Given the description of an element on the screen output the (x, y) to click on. 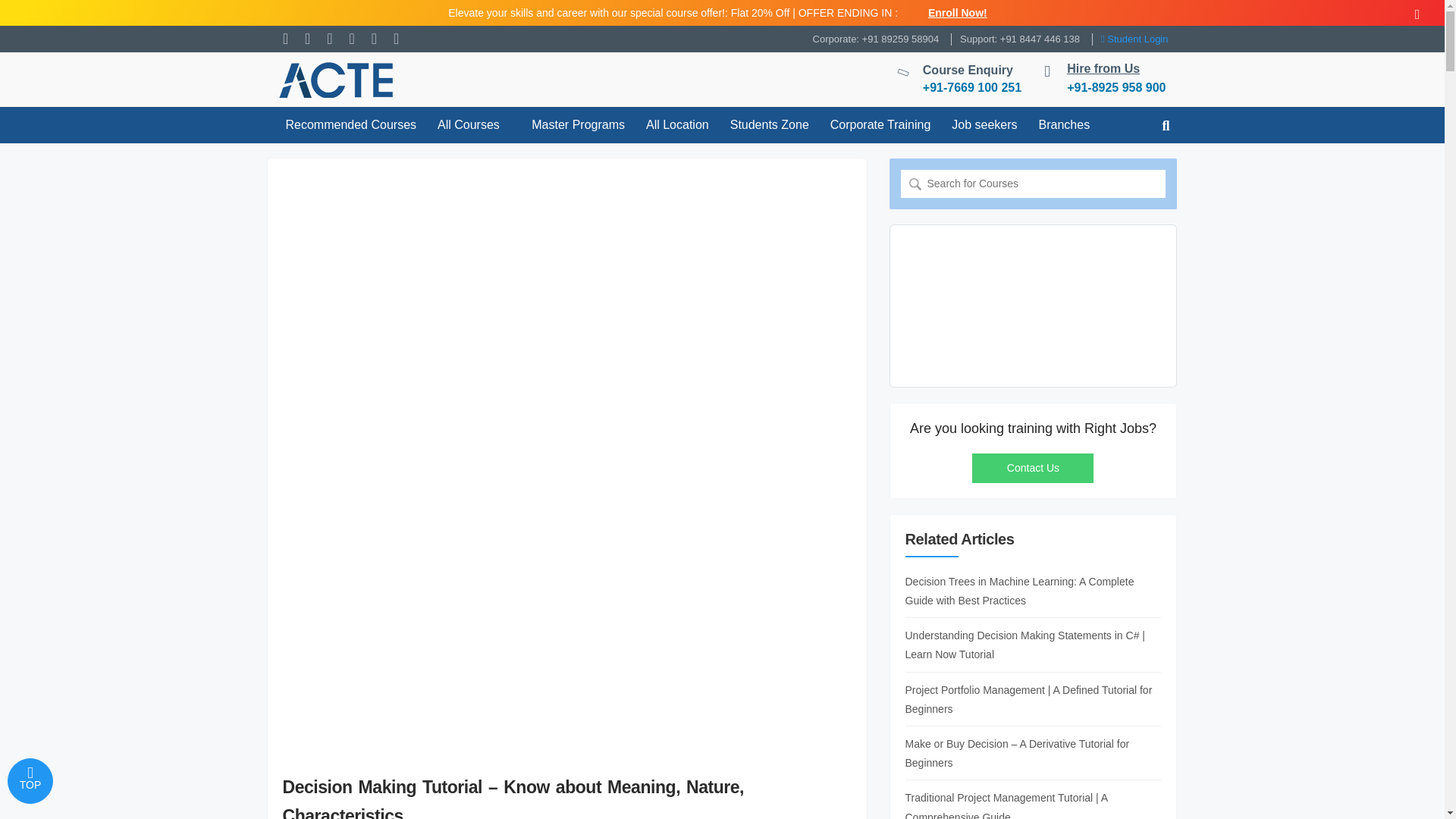
Search (915, 183)
student login (1134, 38)
Recommended Courses (350, 124)
Student Login (1134, 38)
TOP (29, 780)
Search (915, 183)
Support (1019, 38)
Hire from Us (1103, 68)
